Given the description of an element on the screen output the (x, y) to click on. 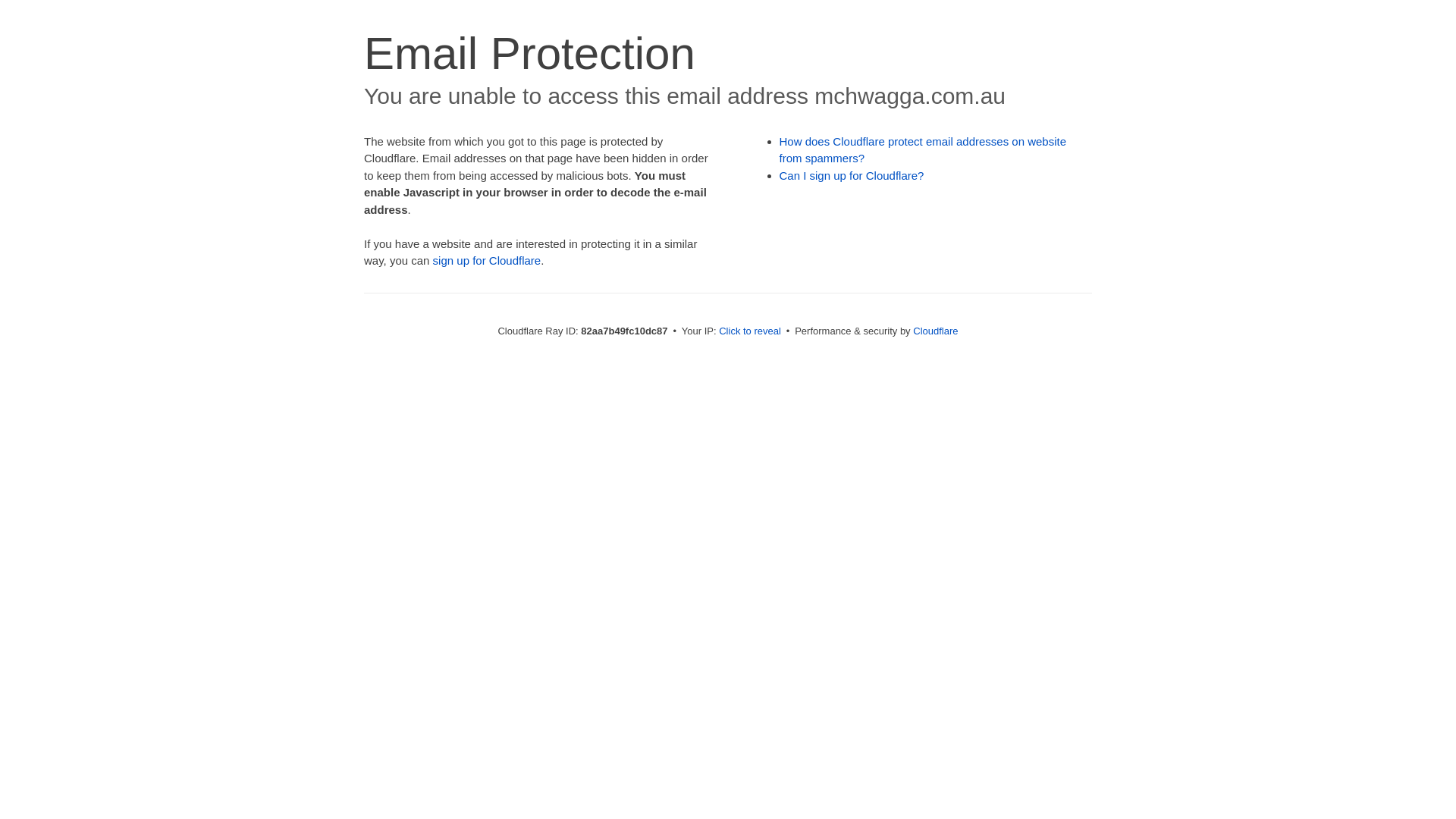
sign up for Cloudflare Element type: text (487, 260)
Can I sign up for Cloudflare? Element type: text (851, 175)
Cloudflare Element type: text (935, 330)
Click to reveal Element type: text (749, 330)
